Given the description of an element on the screen output the (x, y) to click on. 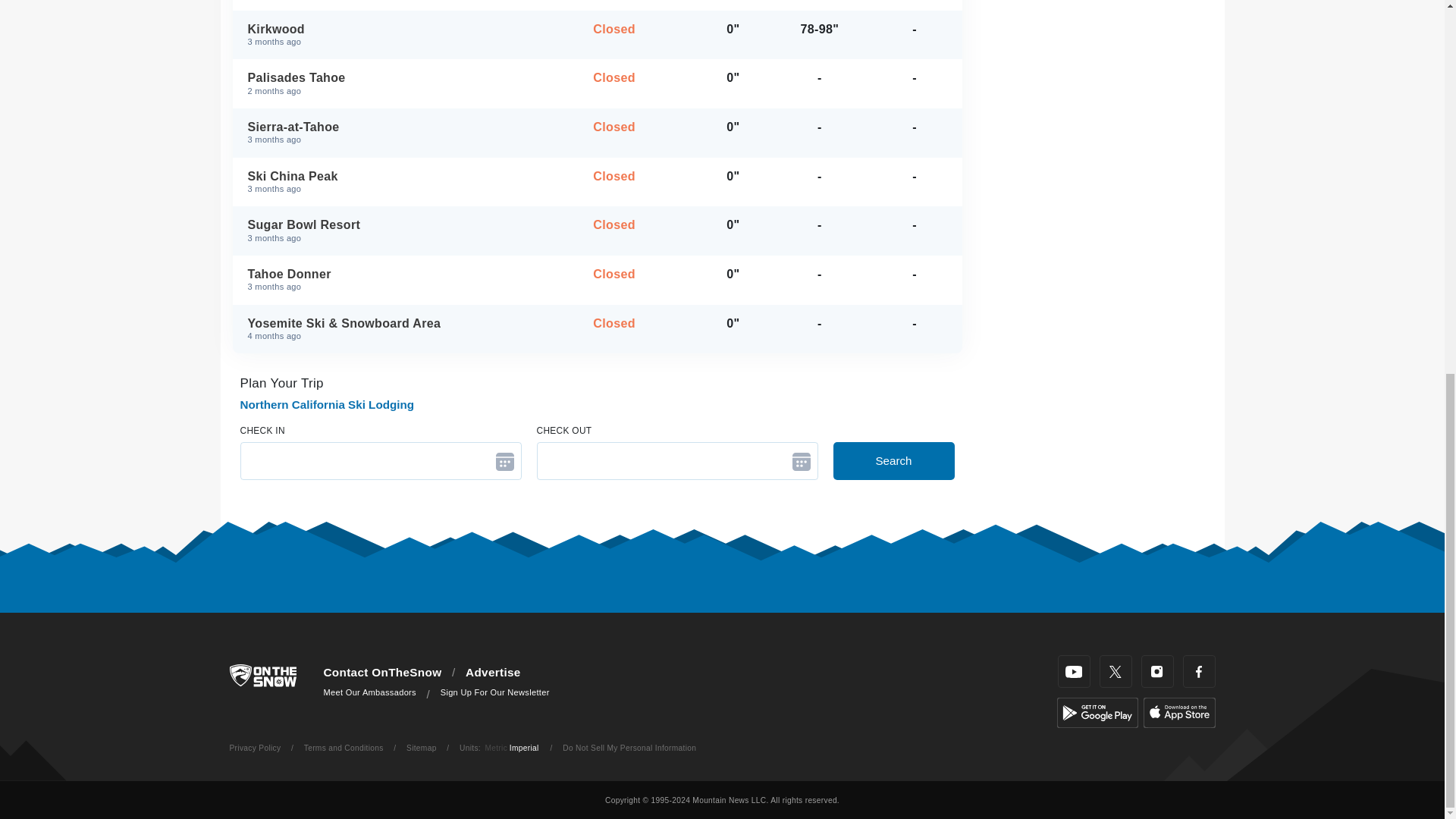
Snow Report Last Updated: (382, 34)
Snow Report Last Updated: (274, 286)
Snow Report Last Updated: (382, 132)
Snow Report Last Updated: (274, 336)
Snow Report Last Updated: (274, 188)
Snow Report Last Updated: (274, 139)
Snow Report Last Updated: (274, 91)
